Given the description of an element on the screen output the (x, y) to click on. 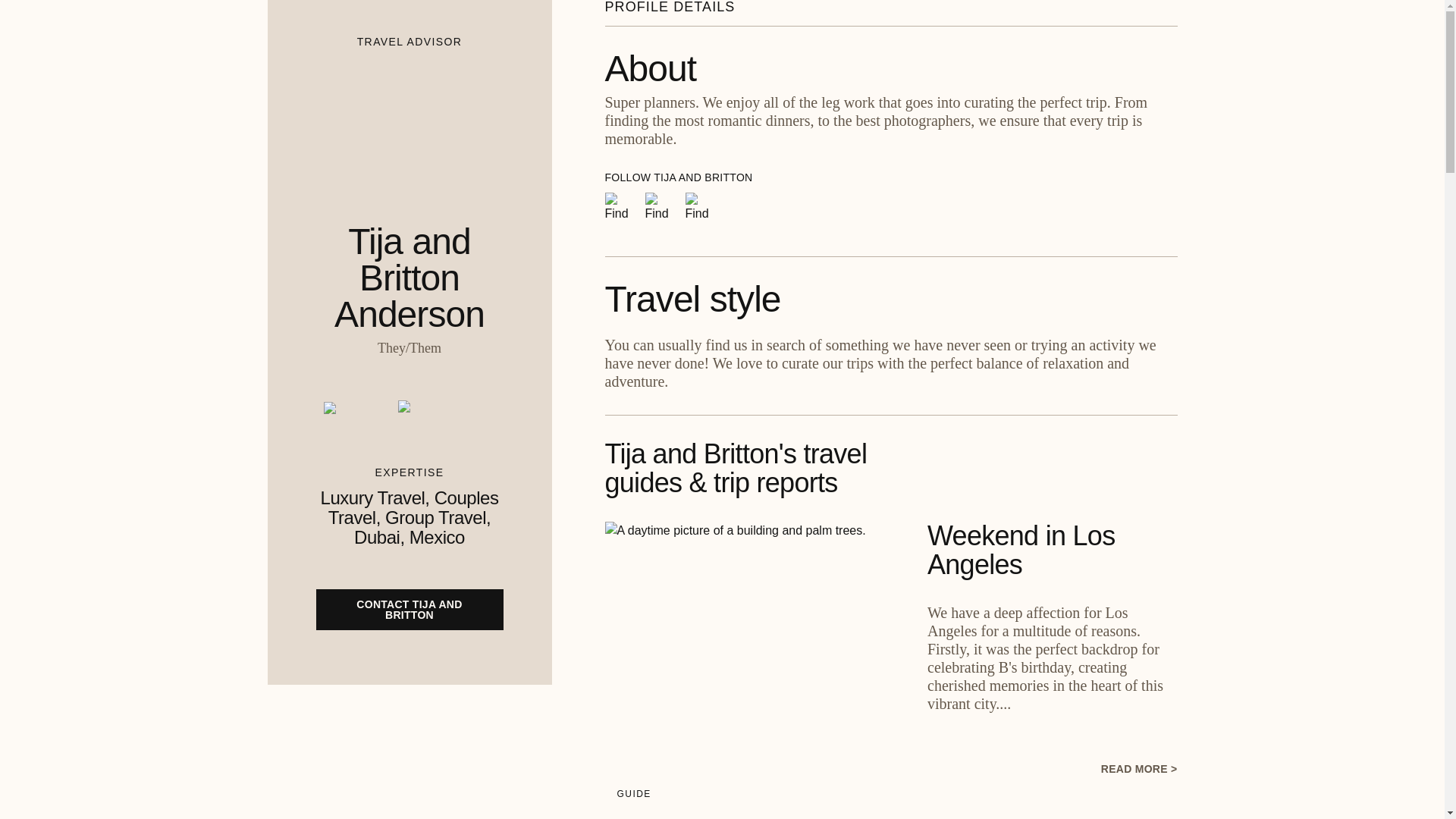
CONTACT TIJA AND BRITTON (408, 598)
